Given the description of an element on the screen output the (x, y) to click on. 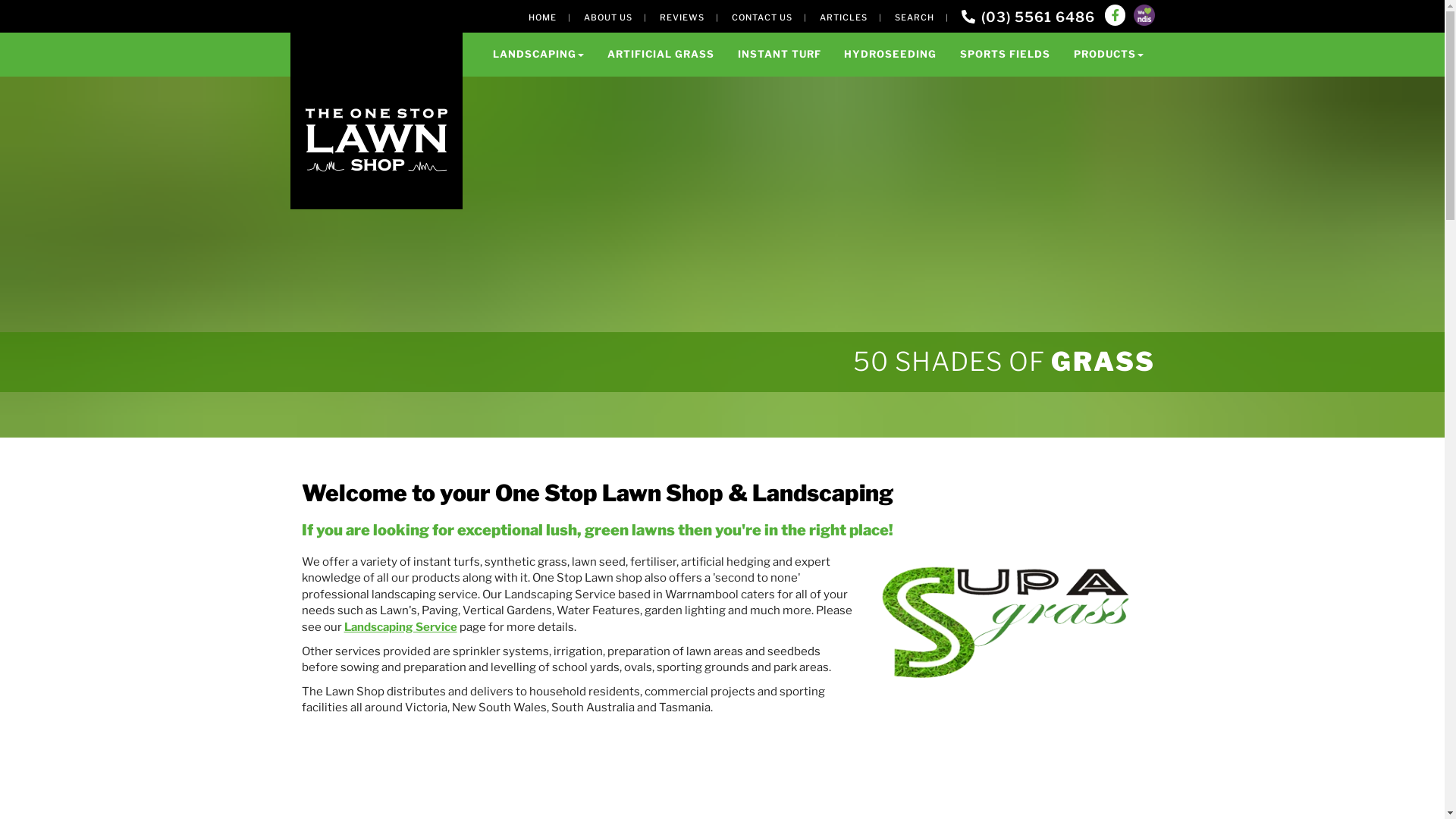
SEARCH Element type: text (914, 17)
HYDROSEEDING Element type: text (890, 54)
ABOUT US Element type: text (607, 17)
ARTIFICIAL GRASS Element type: text (660, 54)
INSTANT TURF Element type: text (778, 54)
REVIEWS Element type: text (681, 17)
SPORTS FIELDS Element type: text (1005, 54)
HOME Element type: text (541, 17)
PRODUCTS Element type: text (1108, 54)
LANDSCAPING Element type: text (538, 54)
Landscaping Service Element type: text (400, 626)
(03) 5561 6486 Element type: text (1028, 17)
CONTACT US Element type: text (761, 17)
ARTICLES Element type: text (842, 17)
